Given the description of an element on the screen output the (x, y) to click on. 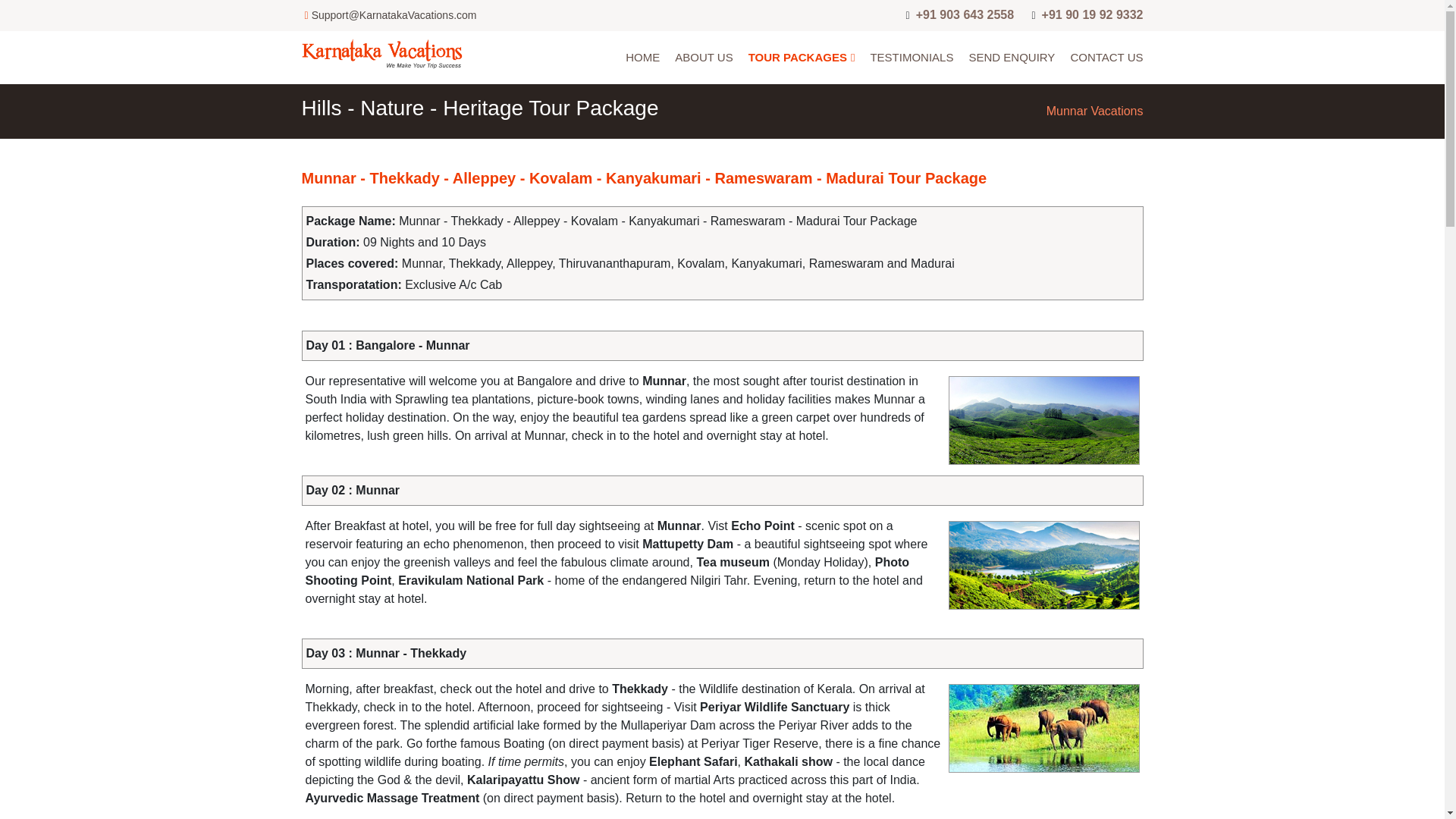
Feedback from our customers (911, 57)
TESTIMONIALS (911, 57)
TOUR PACKAGES (802, 57)
Karnataka Tour Packages (802, 57)
CONTACT US (1106, 57)
ABOUT US (703, 57)
Contact us for Karnataka Holiday Packages (1106, 57)
About Karnataka Vacations - Best Tour operating company (703, 57)
SEND ENQUIRY (1011, 57)
Send Enquiry for Karnataka Travel Packages (1011, 57)
Munnar Vacations (1094, 110)
